Given the description of an element on the screen output the (x, y) to click on. 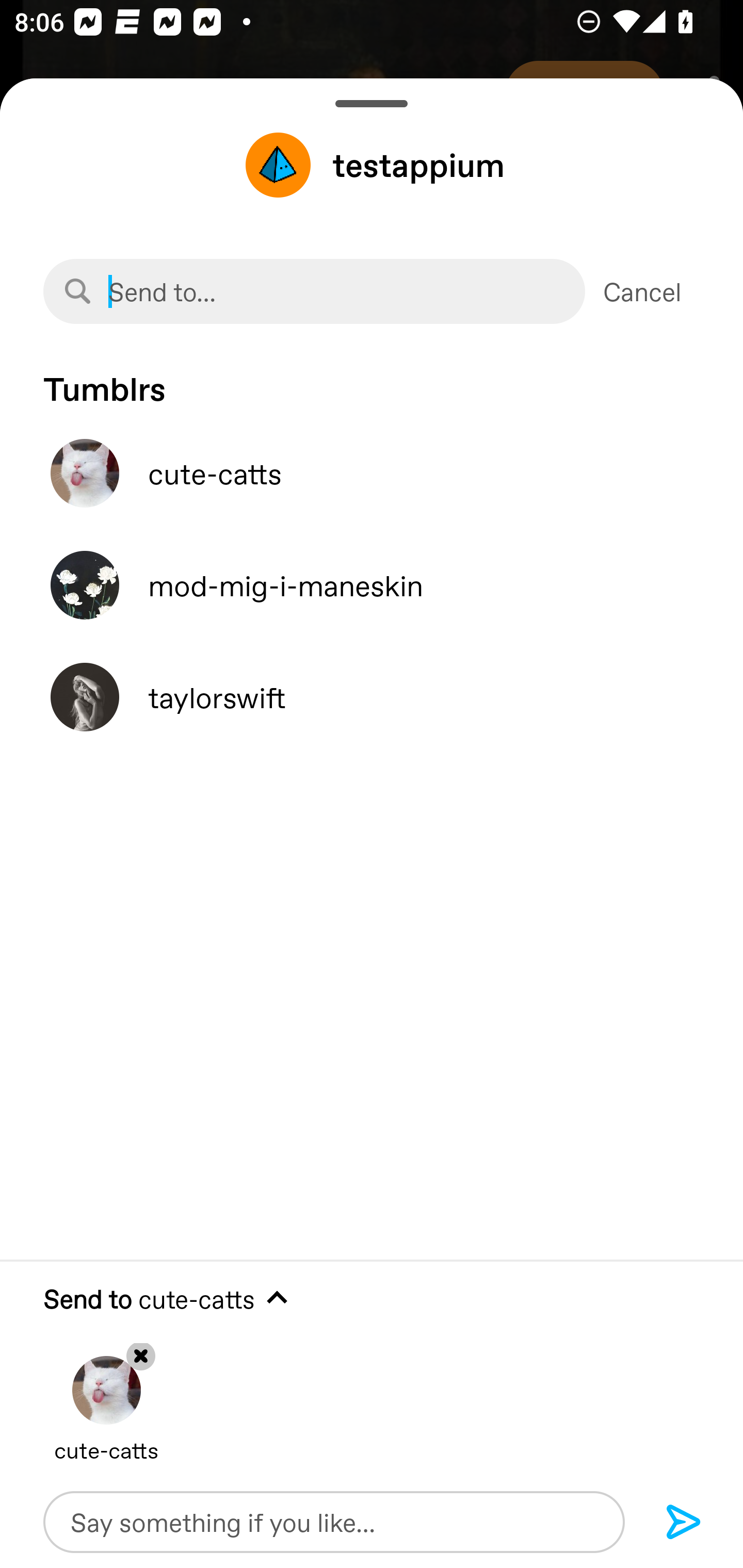
testappium (371, 164)
Cancel (642, 291)
Send to… (314, 291)
Tumblrs (371, 379)
cute-catts (371, 473)
mod-mig-i-maneskin (371, 585)
taylorswift (371, 696)
Send to cute-catts (371, 1298)
Dismiss cute-catts (106, 1395)
Send (683, 1522)
Say something if you like… (333, 1521)
